Given the description of an element on the screen output the (x, y) to click on. 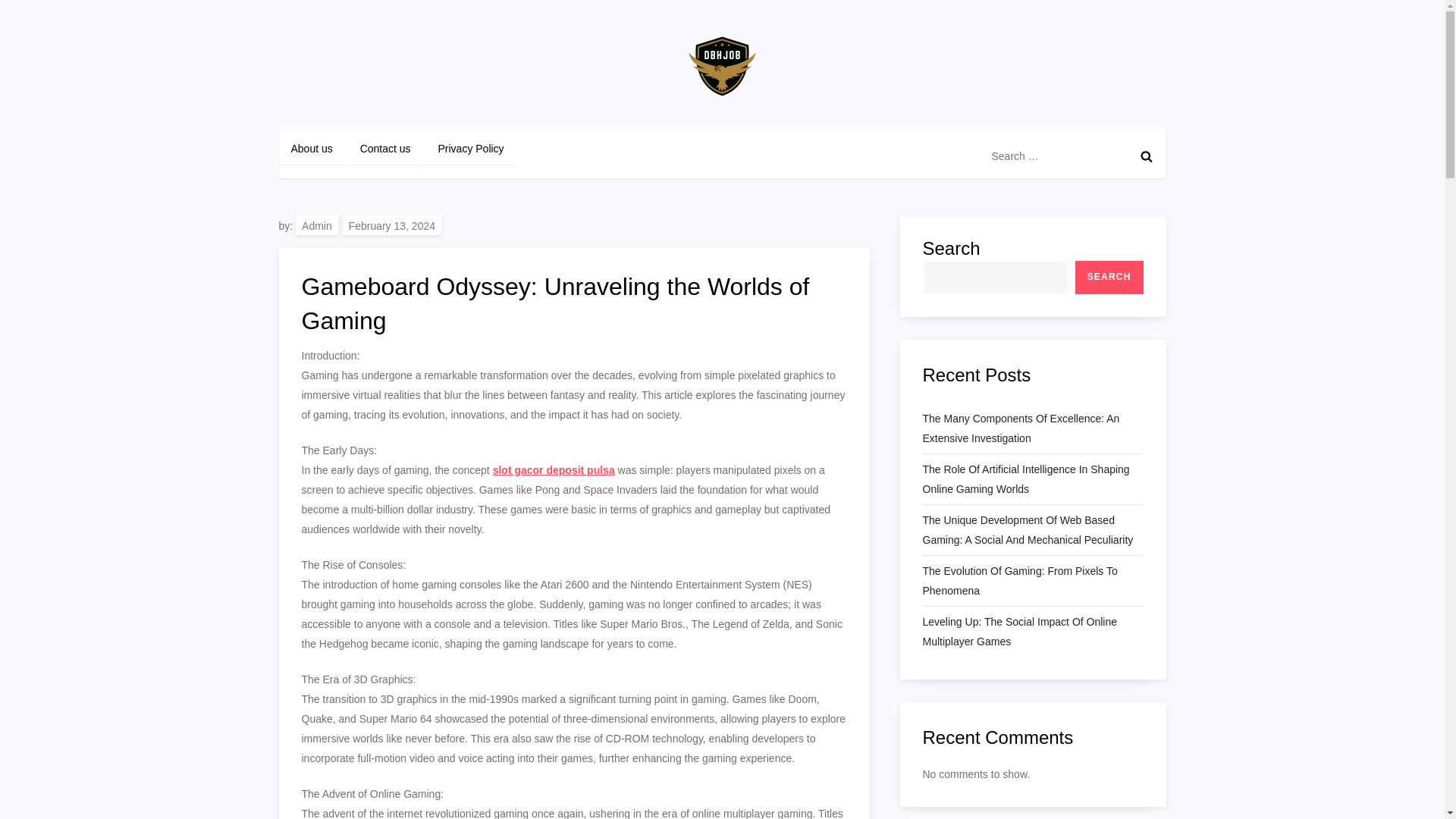
February 13, 2024 (391, 225)
SEARCH (1108, 277)
About us (312, 148)
The Evolution Of Gaming: From Pixels To Phenomena (1031, 580)
slot gacor deposit pulsa (553, 469)
Privacy Policy (470, 148)
Leveling Up: The Social Impact Of Online Multiplayer Games (1031, 631)
Contact us (385, 148)
Admin (316, 225)
